Given the description of an element on the screen output the (x, y) to click on. 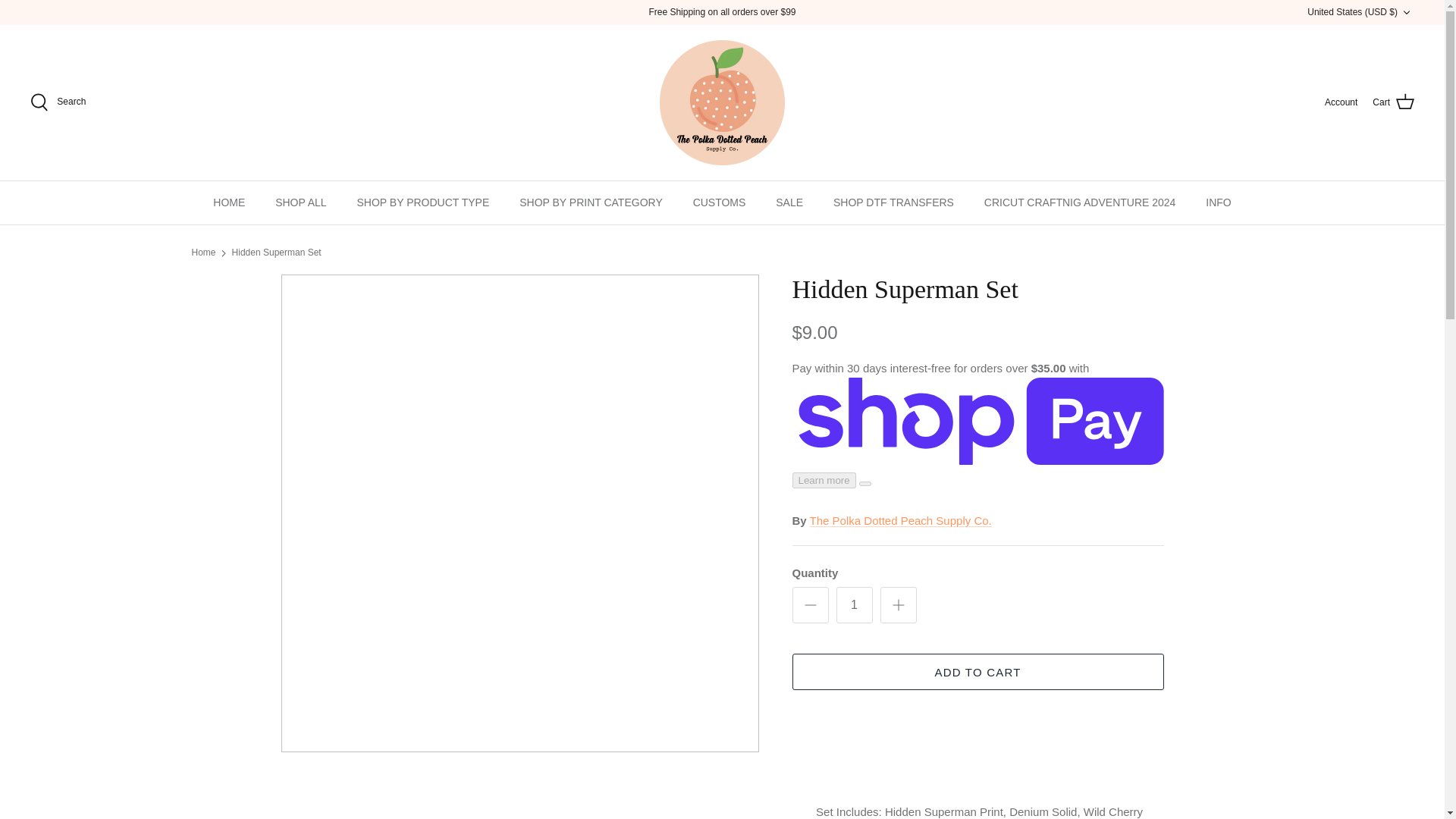
Plus (897, 605)
The Polka Dotted Peach Supply Co. (721, 102)
1 (853, 605)
SHOP BY PRODUCT TYPE (422, 202)
HOME (229, 202)
Account (1340, 102)
Search (57, 102)
Minus (809, 605)
Down (1406, 12)
Cart (1393, 102)
